Given the description of an element on the screen output the (x, y) to click on. 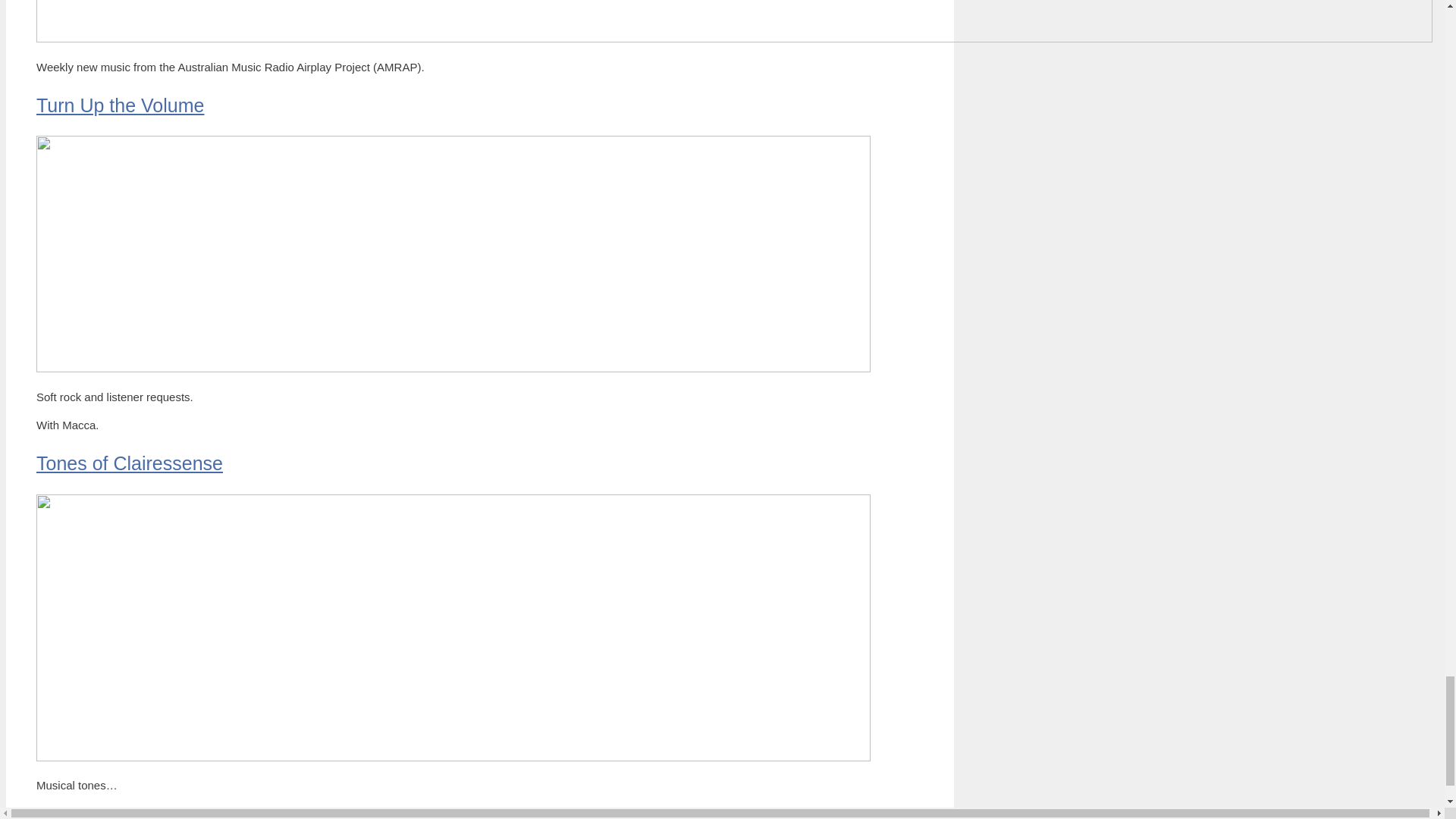
Tones of Clairessense (129, 463)
Turn Up the Volume (119, 105)
